Given the description of an element on the screen output the (x, y) to click on. 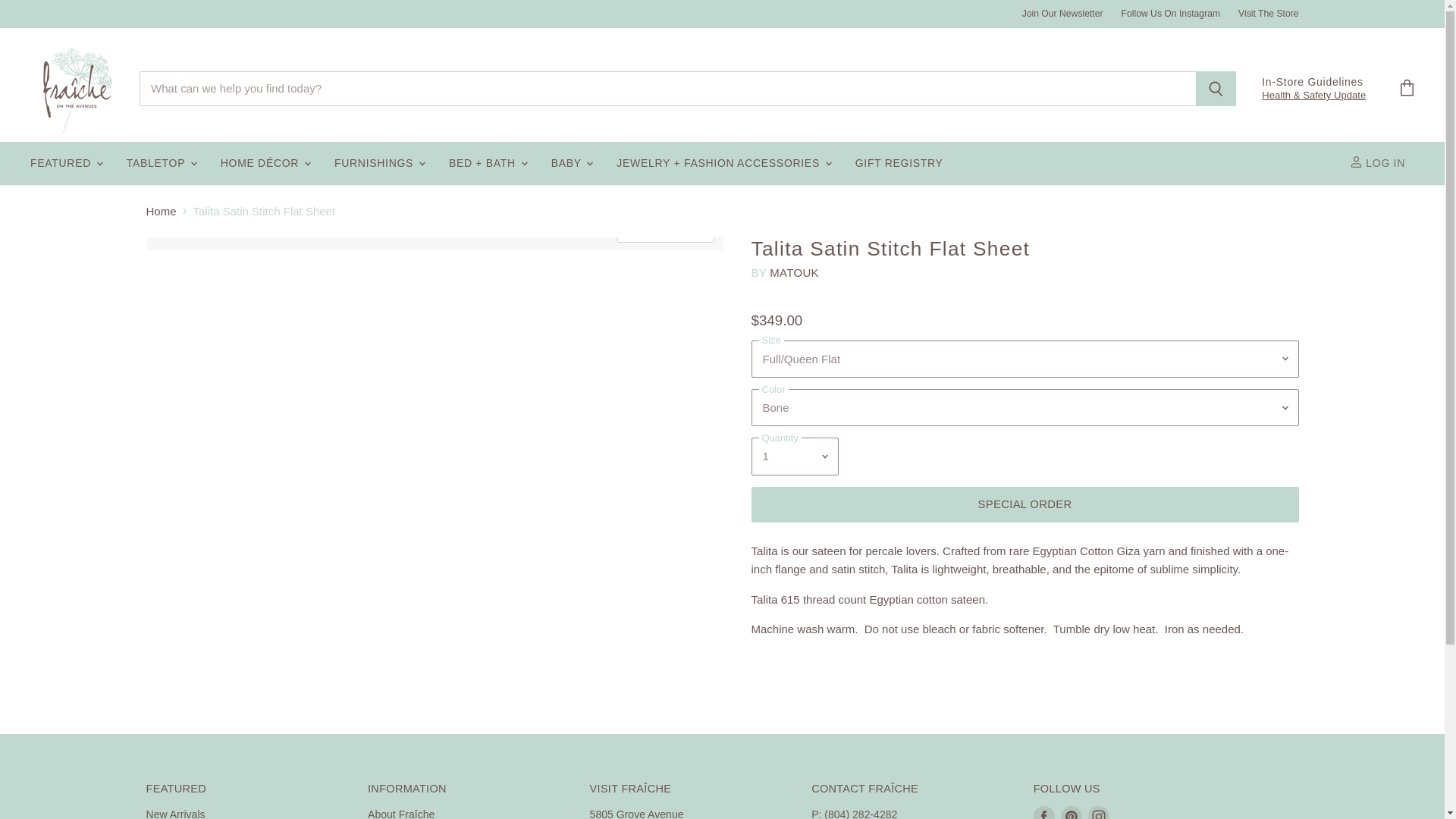
Visit The Store (1268, 13)
ACCOUNT ICON (1355, 161)
Matouk (794, 272)
Join Our Newsletter (1062, 13)
Follow Us On Instagram (1171, 13)
Facebook (1044, 811)
Instagram (1098, 811)
FEATURED (65, 163)
TABLETOP (160, 163)
Pinterest (1071, 811)
